Given the description of an element on the screen output the (x, y) to click on. 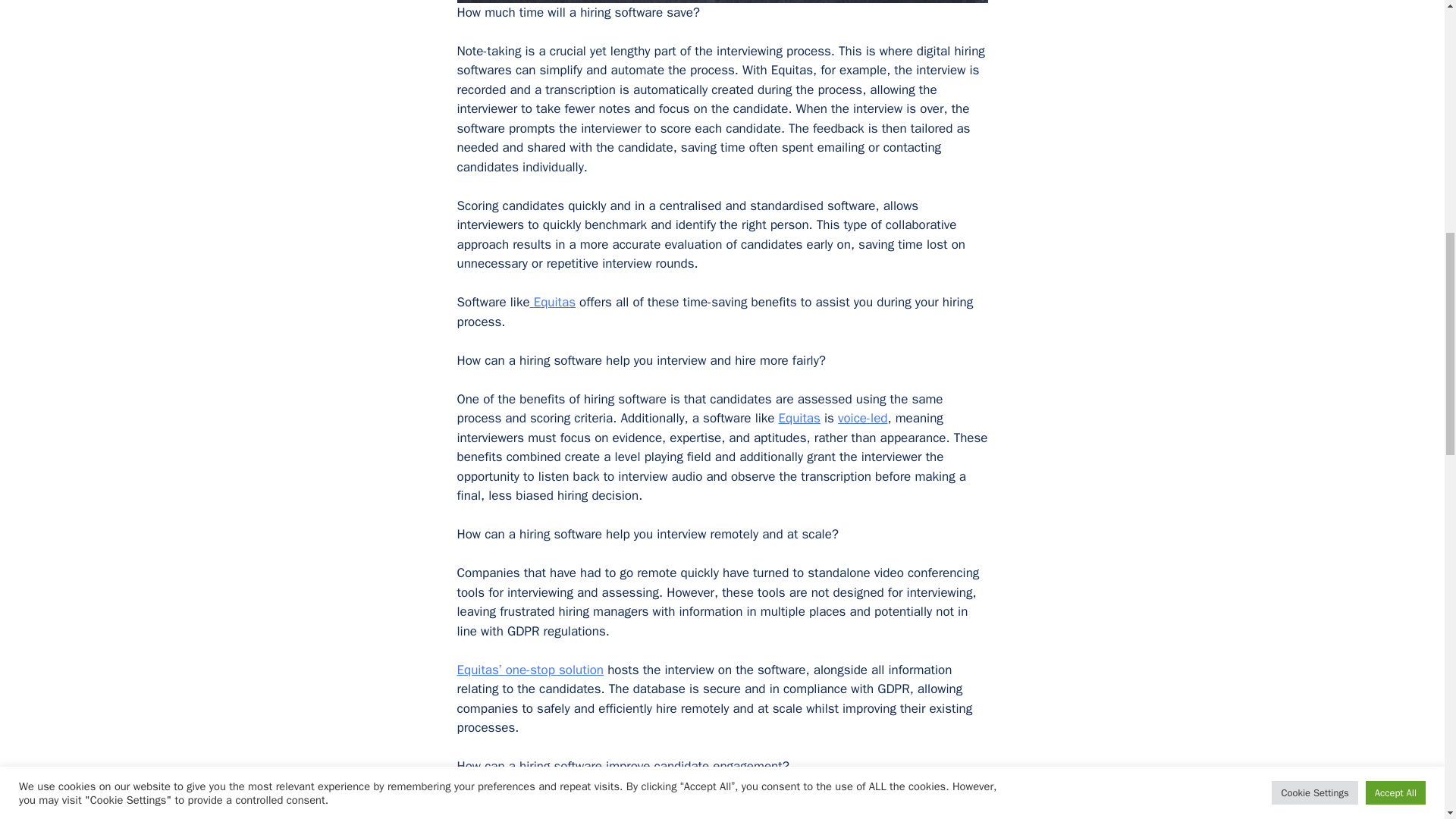
voice-led (863, 417)
Equitas (799, 417)
Equitas (552, 302)
